Given the description of an element on the screen output the (x, y) to click on. 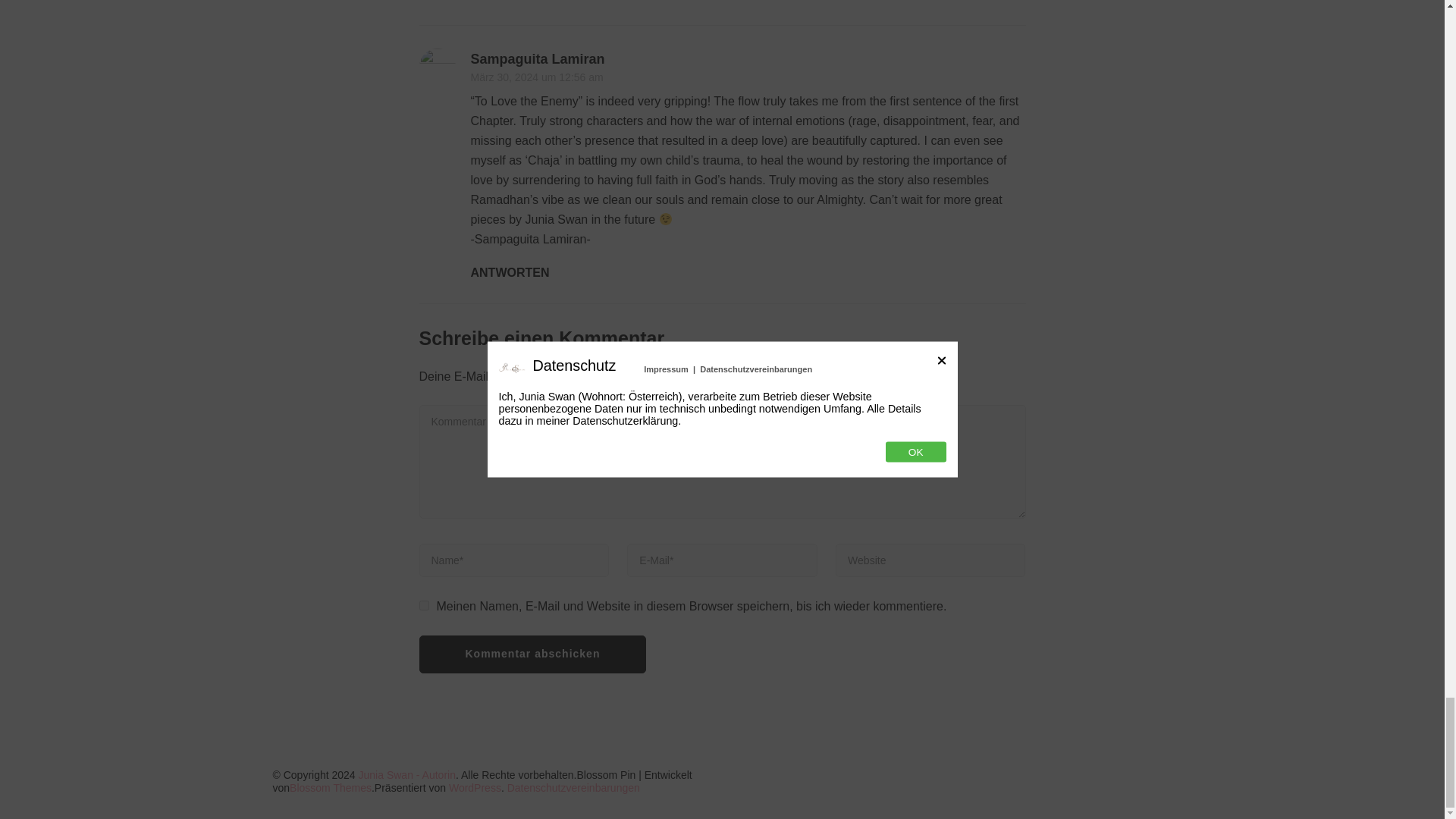
yes (423, 605)
Kommentar abschicken (532, 654)
